Given the description of an element on the screen output the (x, y) to click on. 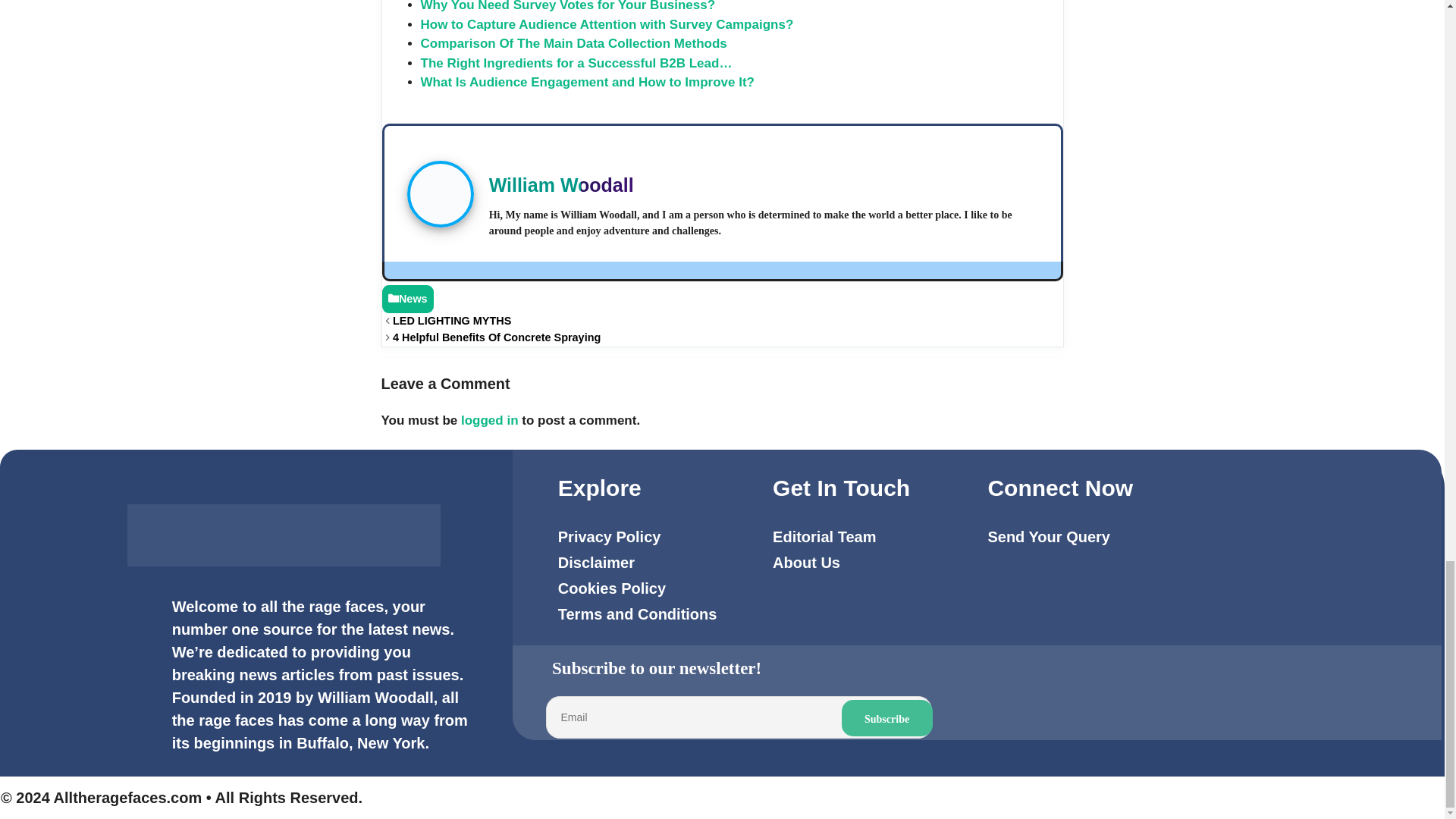
Subscribe (887, 718)
Comparison Of The Main Data Collection Methods (573, 43)
News (413, 298)
What Is Audience Engagement and How to Improve It? (587, 82)
William Woodall (561, 184)
4 Helpful Benefits Of Concrete Spraying  (498, 337)
LED LIGHTING MYTHS (452, 320)
Why You Need Survey Votes for Your Business? (567, 6)
How to Capture Audience Attention with Survey Campaigns? (606, 24)
